Given the description of an element on the screen output the (x, y) to click on. 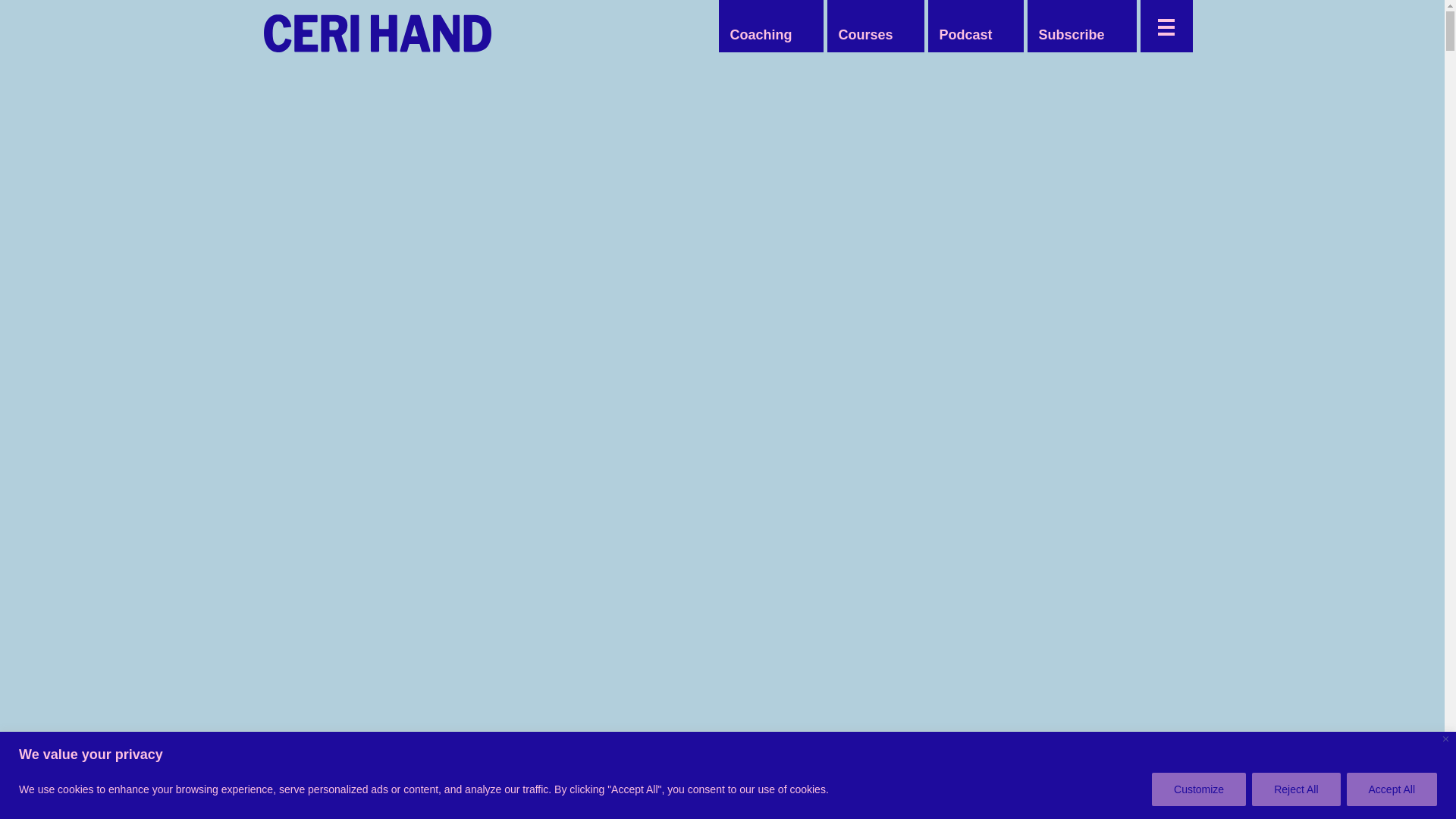
Courses (864, 34)
Accept All (1391, 788)
Coaching (760, 34)
Customize (1198, 788)
Subscribe (1070, 34)
Reject All (1295, 788)
Podcast (964, 34)
